Given the description of an element on the screen output the (x, y) to click on. 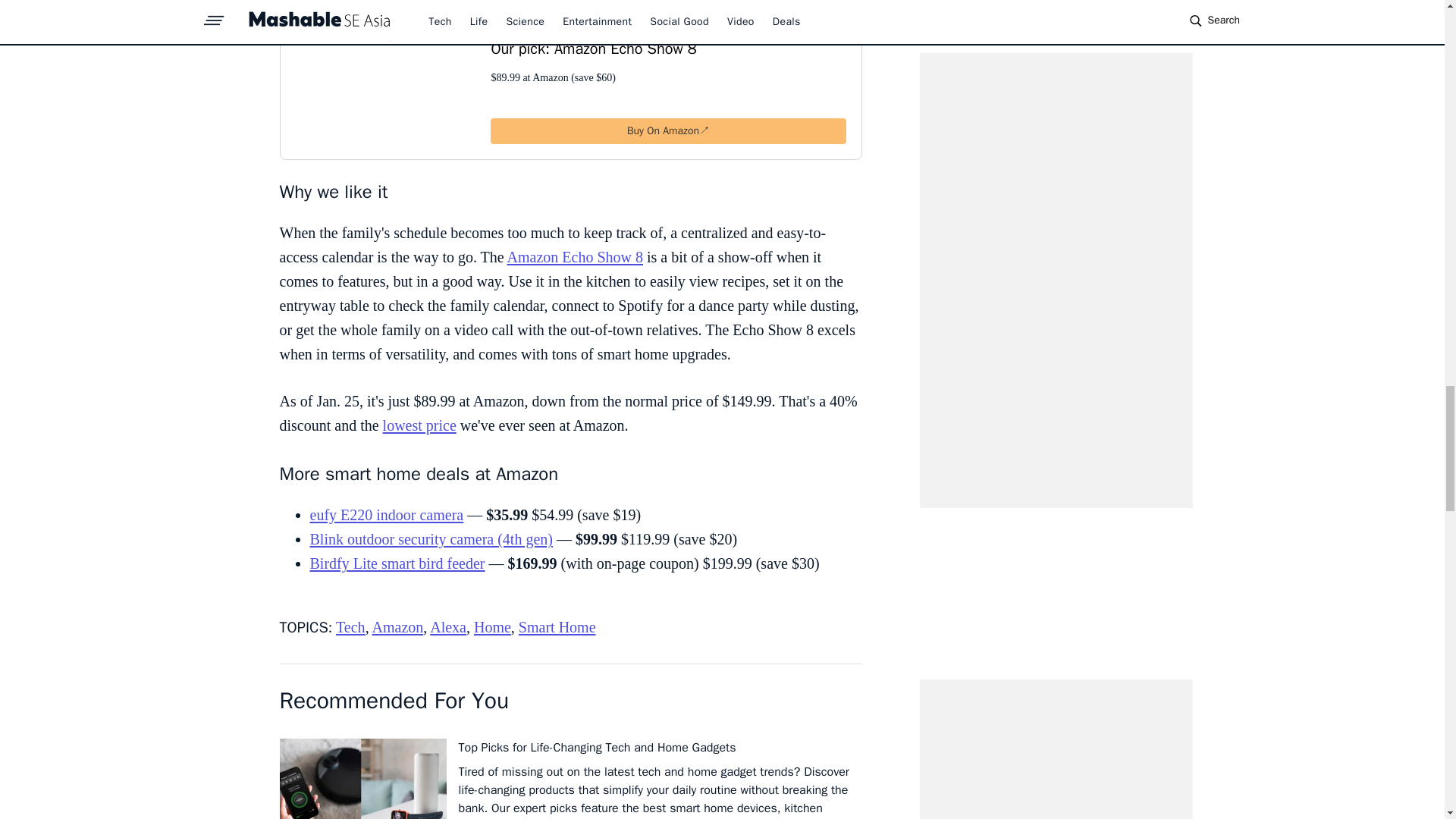
Smart Home (556, 627)
Alexa (447, 627)
Home (492, 627)
Amazon (397, 627)
Birdfy Lite smart bird feeder (396, 563)
eufy E220 indoor camera (385, 514)
Amazon Echo Show 8 (574, 256)
Tech (350, 627)
lowest price (419, 425)
